Given the description of an element on the screen output the (x, y) to click on. 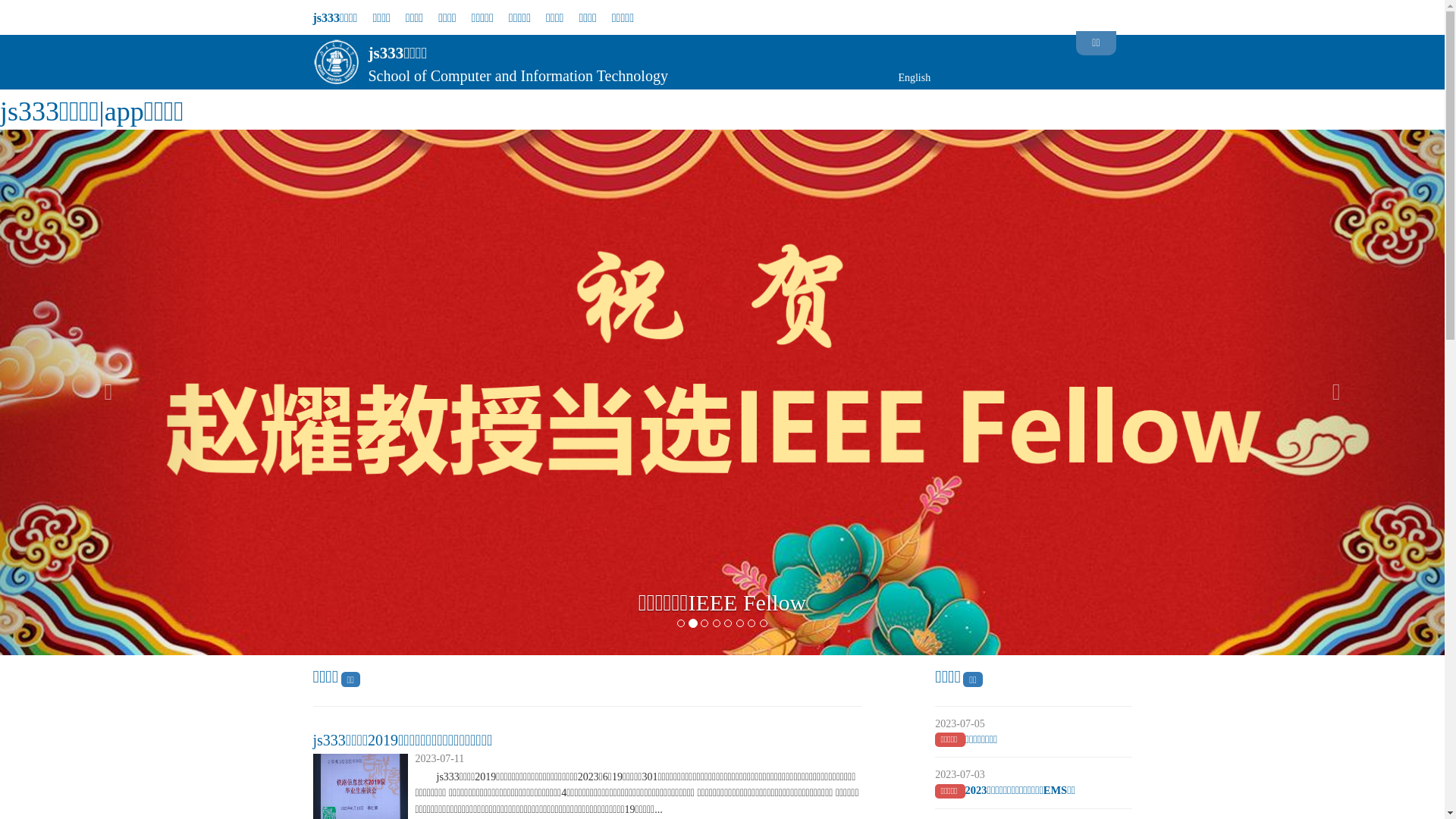
Next Element type: text (1335, 392)
English Element type: text (913, 76)
Previous Element type: text (108, 392)
